Given the description of an element on the screen output the (x, y) to click on. 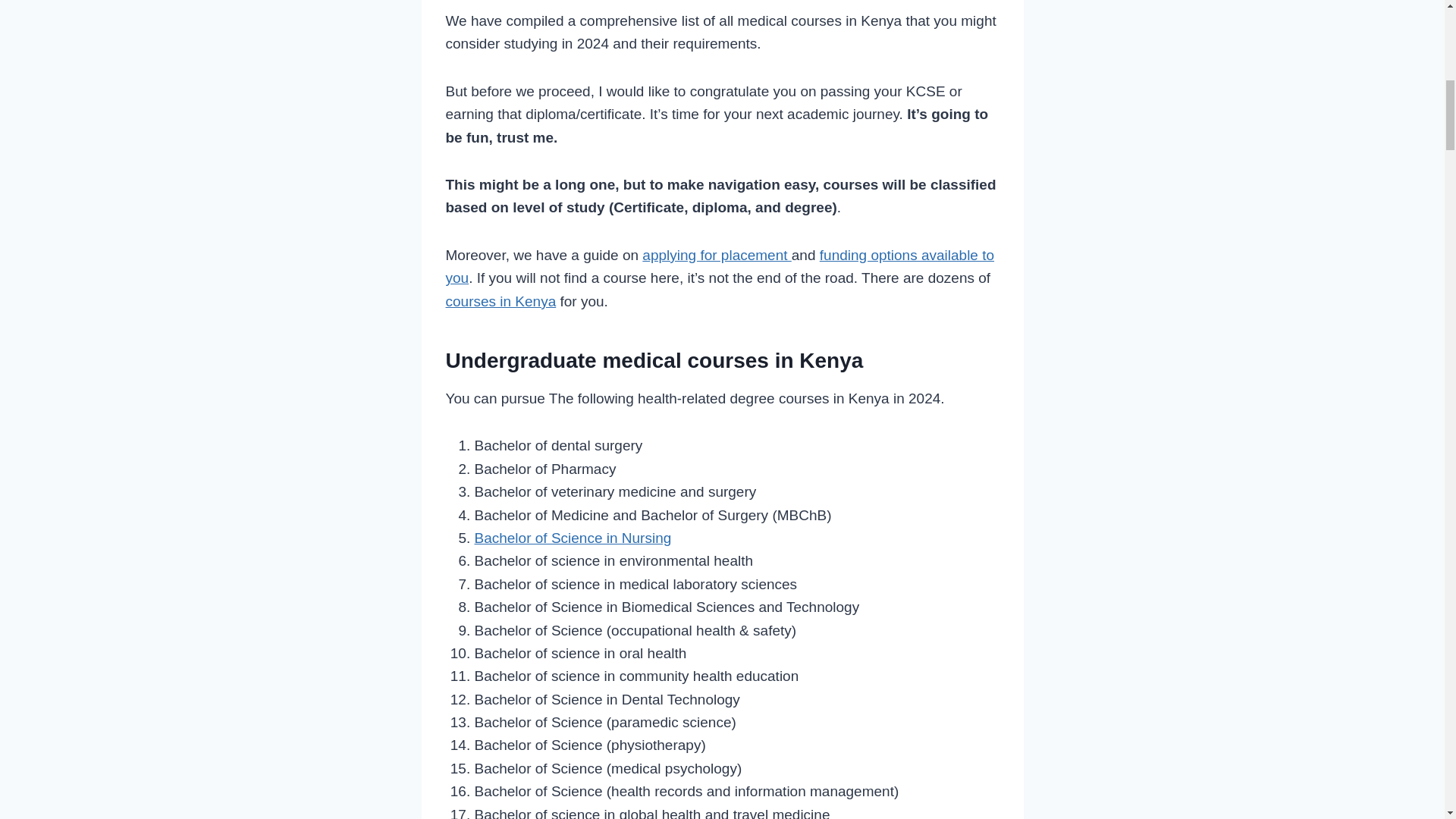
funding options available to (906, 254)
you (456, 277)
applying for placement  (716, 254)
Bachelor of Science in Nursing (572, 537)
courses in Kenya (500, 301)
